Given the description of an element on the screen output the (x, y) to click on. 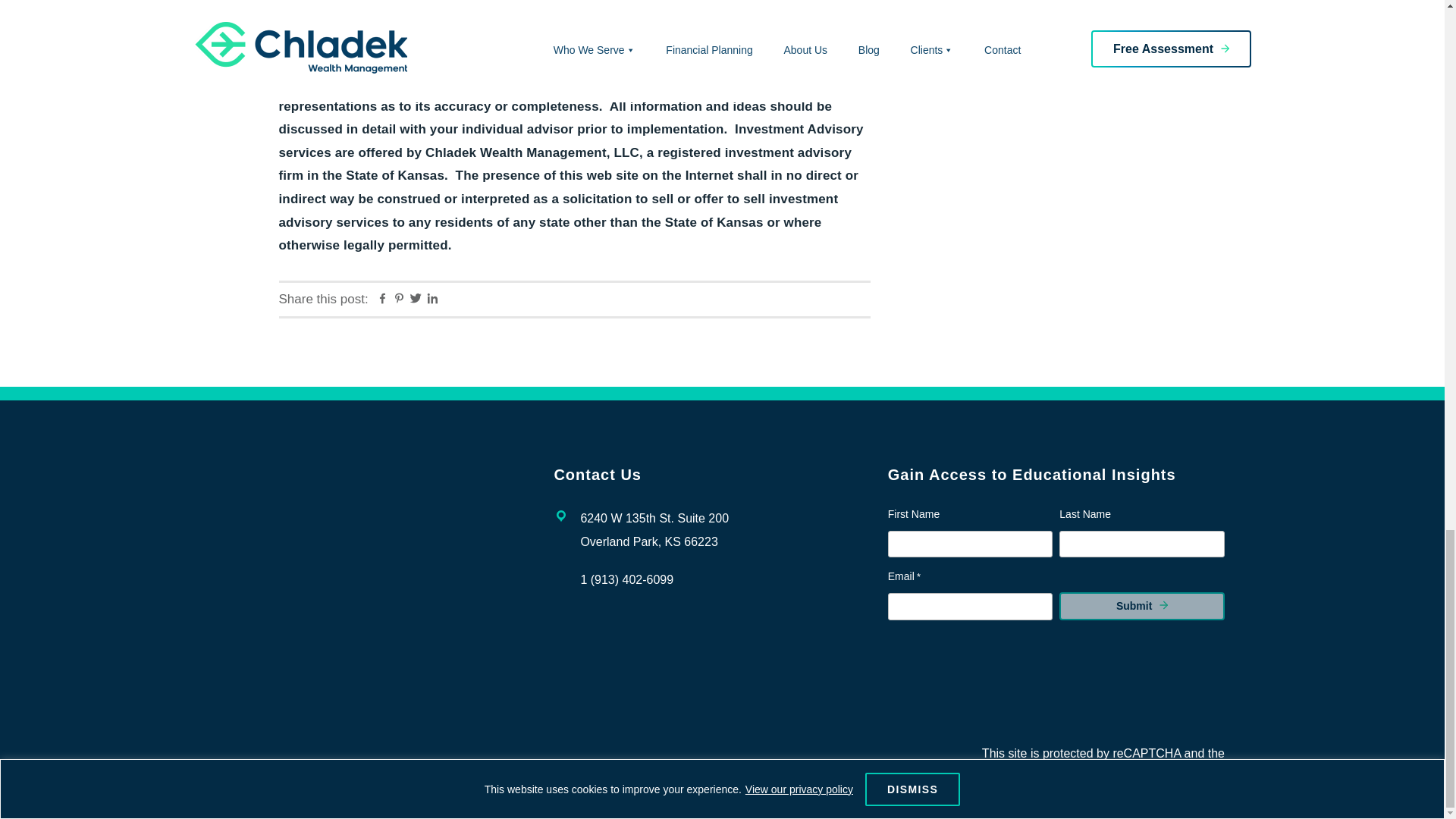
Share on Linkedin (432, 300)
Share on Twitter (415, 300)
Cfp (932, 686)
Agc (1179, 687)
Fon (1096, 687)
Napfa (1015, 687)
Pinterest (399, 300)
Logo Light (331, 487)
Pin on Pinterest (399, 300)
Linkedin (432, 300)
